Given the description of an element on the screen output the (x, y) to click on. 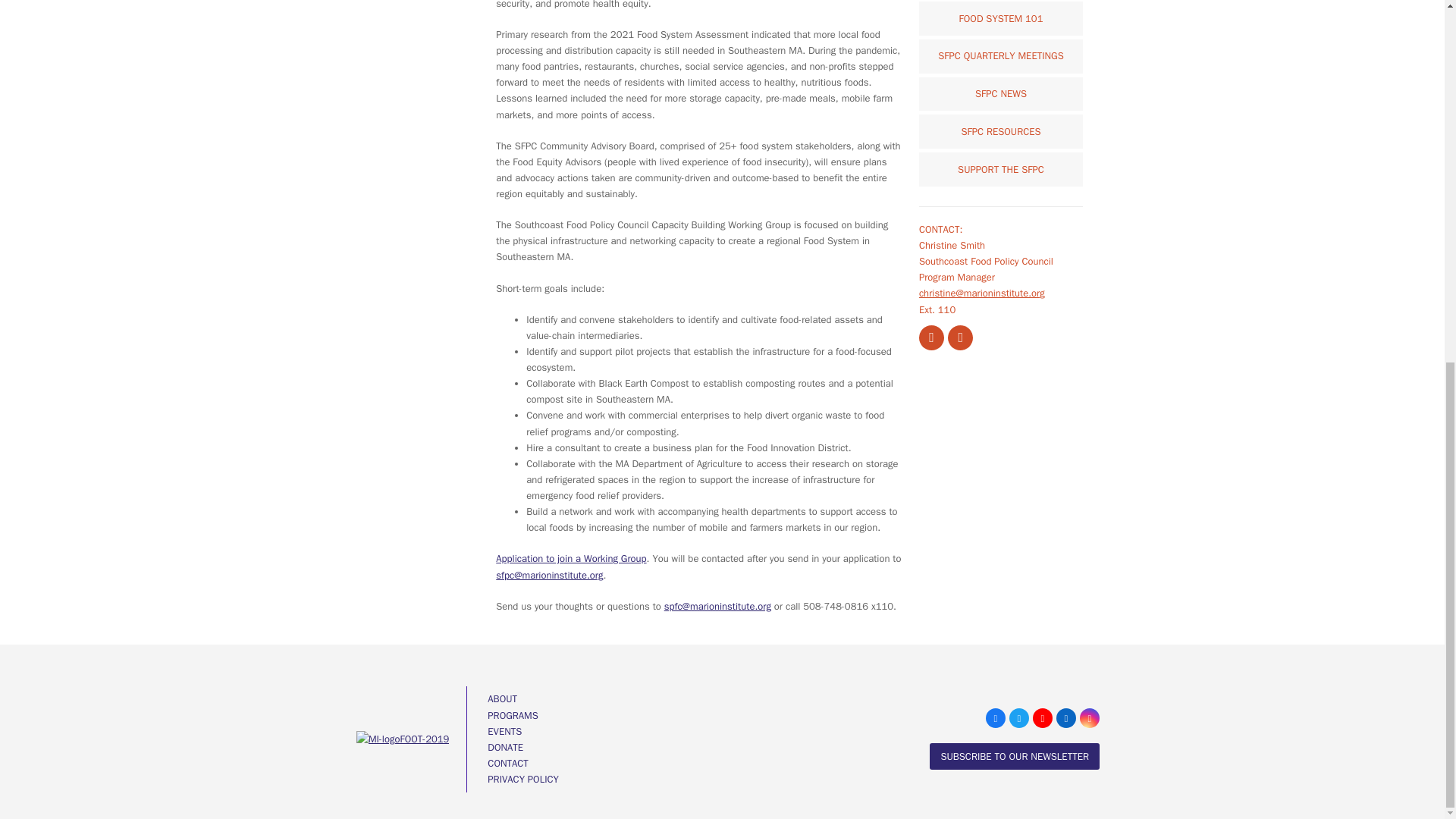
Twitter (1019, 718)
LinkedIn (1066, 718)
MI-logoFOOT-2019 (402, 738)
Instagram (1089, 718)
Facebook (995, 718)
Youtube (1042, 718)
Application to join a Working Group (571, 558)
Facebook (930, 337)
Twitter (959, 337)
